Given the description of an element on the screen output the (x, y) to click on. 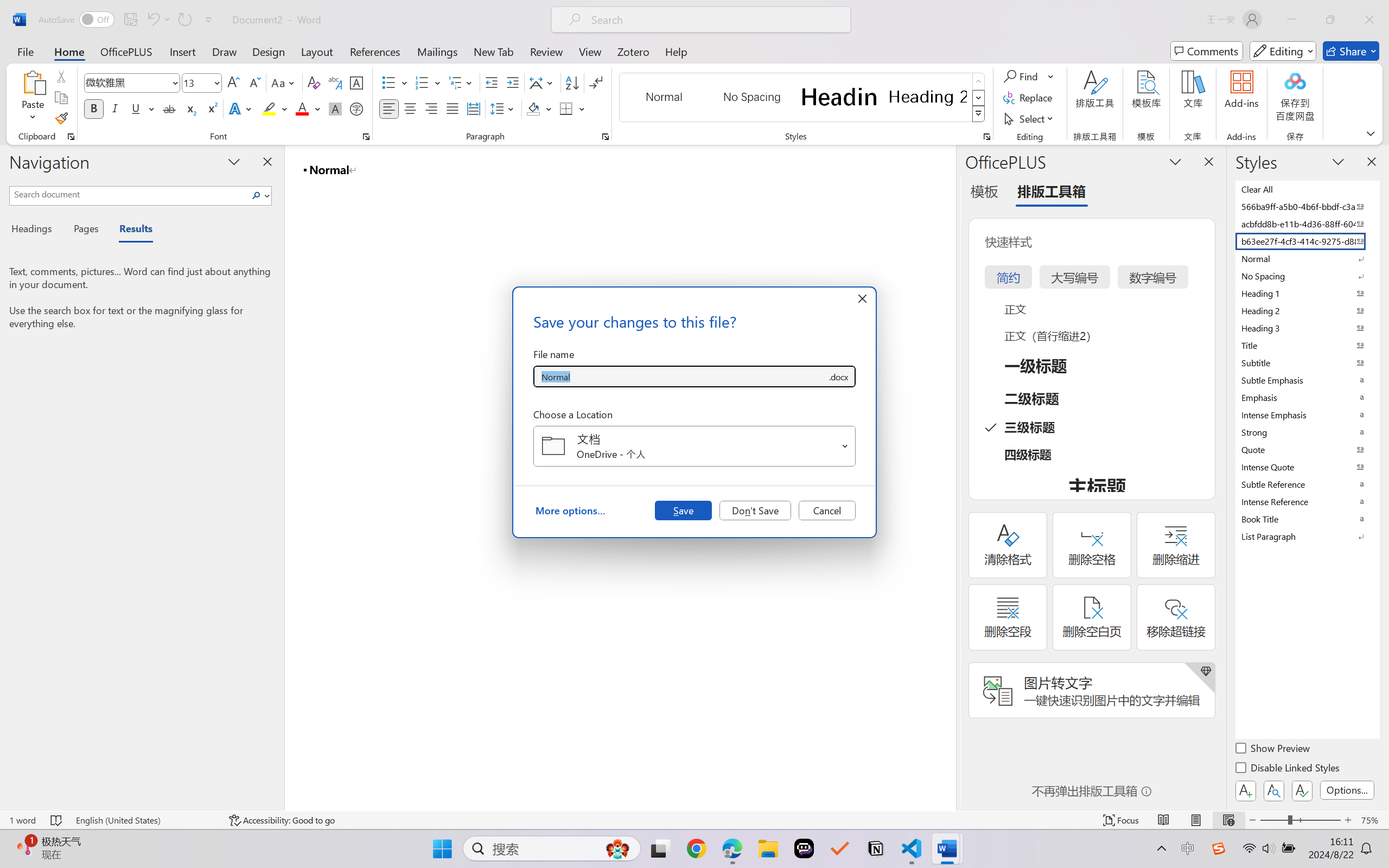
Class: NetUIScrollBar (948, 477)
Clear All (1306, 188)
Microsoft search (715, 19)
Search (259, 195)
Book Title (1306, 518)
Notion (875, 848)
Grow Font (233, 82)
Options... (1346, 789)
Repeat Style (184, 19)
Show/Hide Editing Marks (595, 82)
Text Highlight Color Yellow (269, 108)
